Given the description of an element on the screen output the (x, y) to click on. 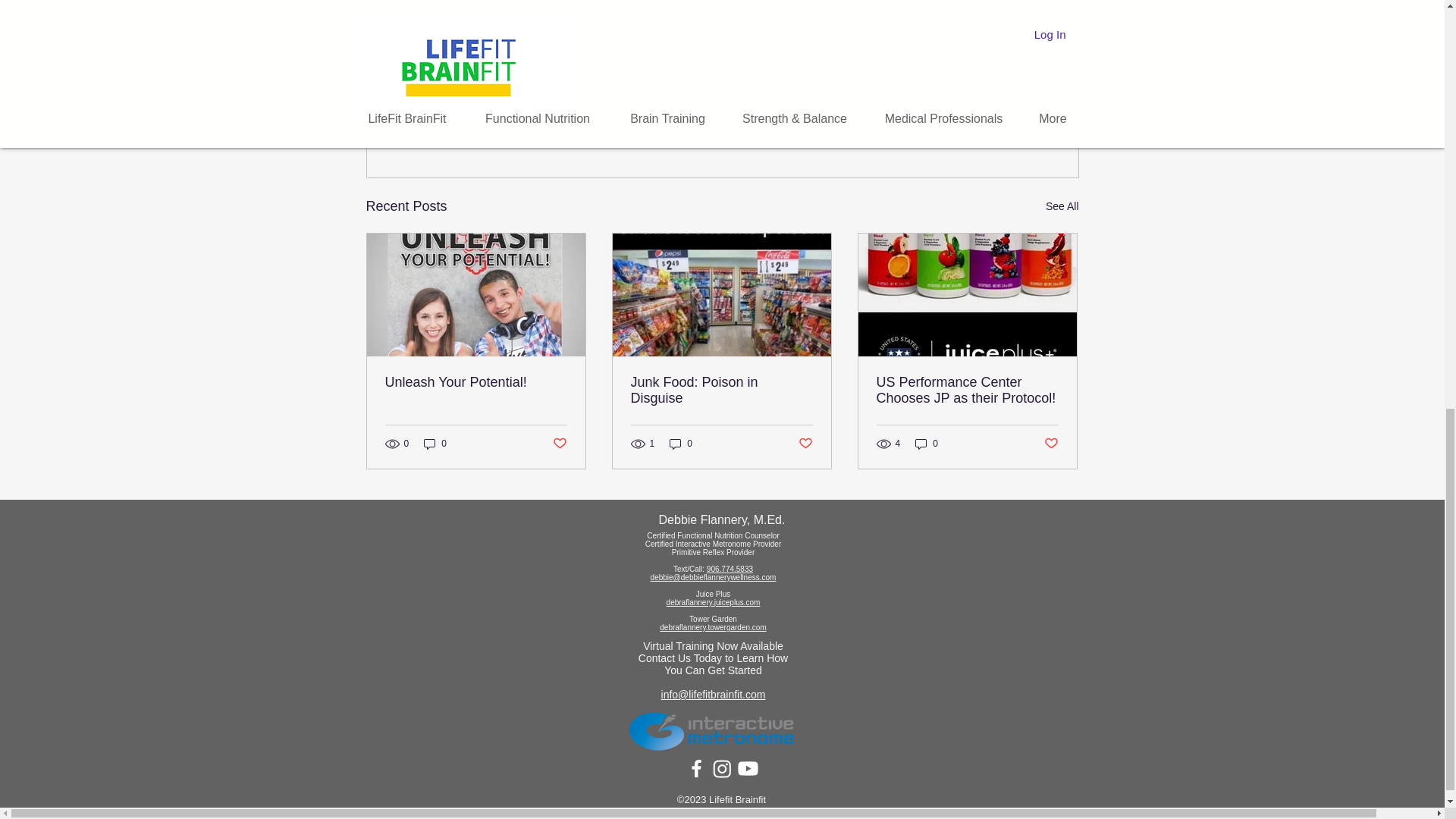
Post not marked as liked (995, 123)
0 (681, 442)
im-logo.png (712, 730)
Unleash Your Potential! (476, 382)
See All (1061, 206)
Post not marked as liked (558, 443)
0 (435, 442)
Junk Food: Poison in Disguise (721, 390)
Post not marked as liked (804, 443)
